Given the description of an element on the screen output the (x, y) to click on. 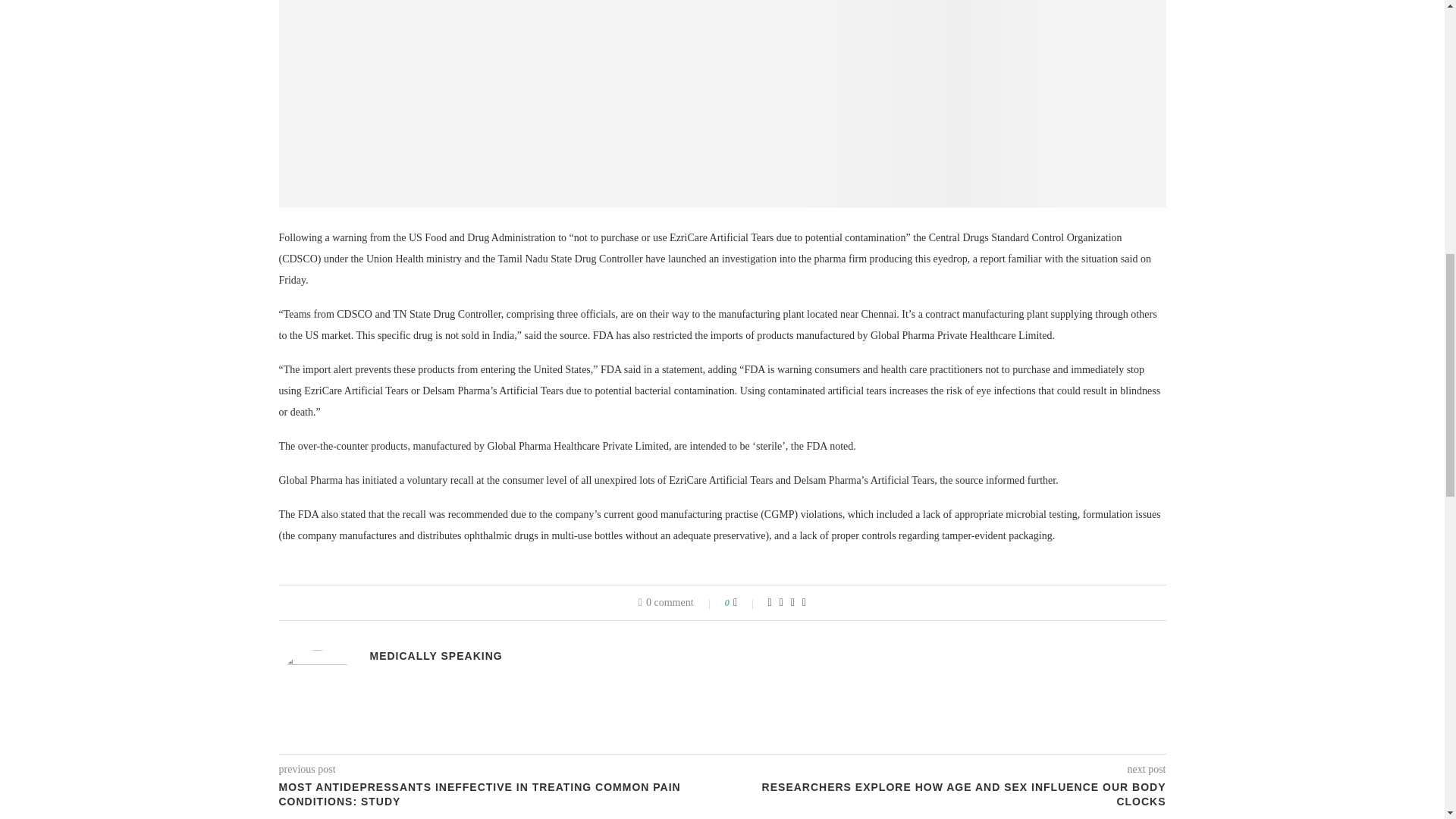
MEDICALLY SPEAKING (435, 655)
Like (745, 603)
Author Medically Speaking (435, 655)
